Given the description of an element on the screen output the (x, y) to click on. 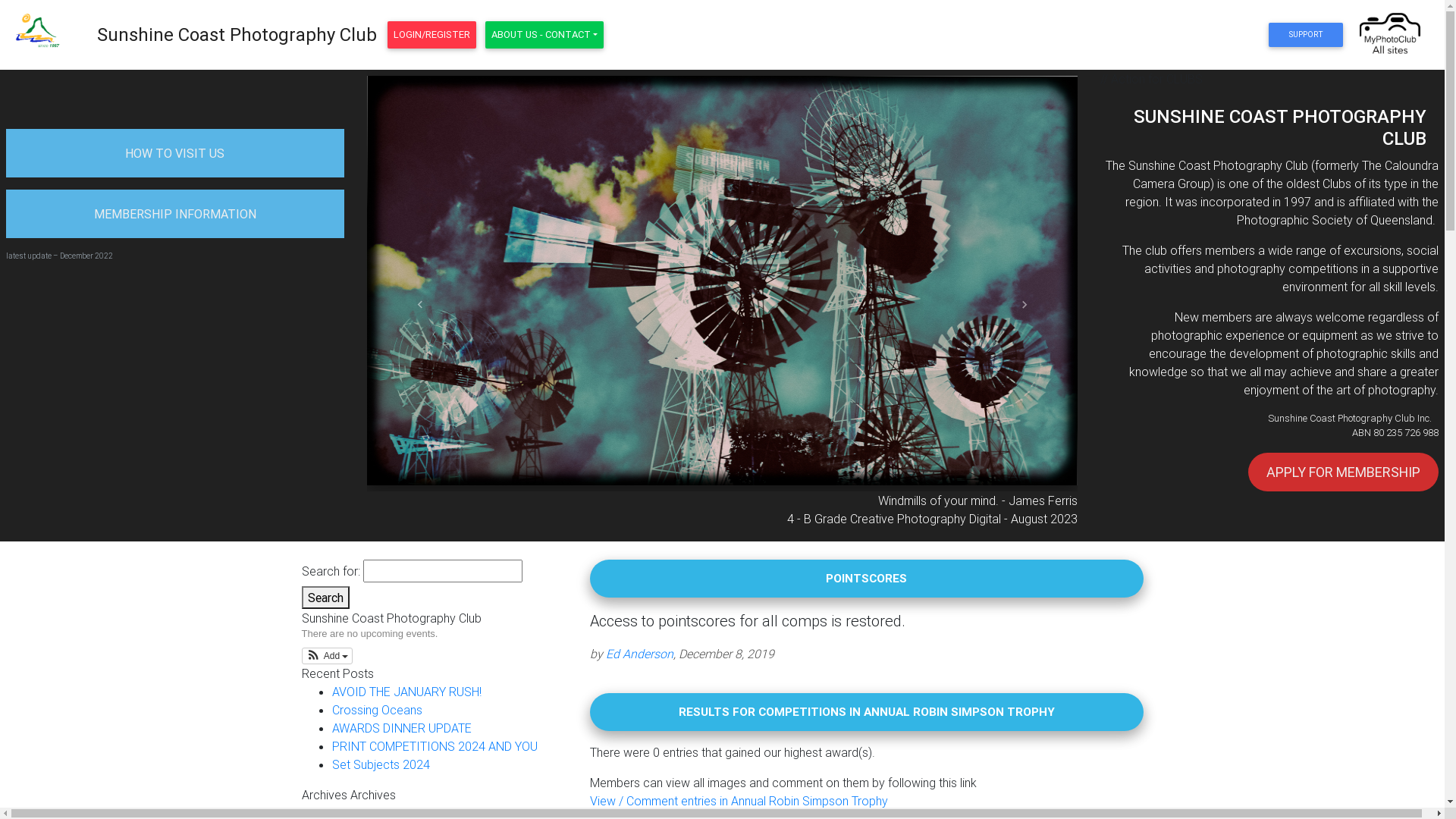
APPLY FOR MEMBERSHIP Element type: text (1343, 471)
View / Comment entries in Annual Robin Simpson Trophy Element type: text (738, 800)
MEMBERSHIP INFORMATION Element type: text (175, 213)
Sunshine Coast Photography Club Element type: text (236, 35)
Crossing Oceans Element type: text (377, 709)
SUPPORT Element type: text (1305, 34)
Next Element type: text (1024, 304)
PRINT COMPETITIONS 2024 AND YOU Element type: text (434, 745)
ABOUT US - CONTACT Element type: text (544, 34)
Set Subjects 2024 Element type: text (380, 763)
AWARDS DINNER UPDATE Element type: text (401, 727)
HOW TO VISIT US Element type: text (174, 152)
AVOID THE JANUARY RUSH! Element type: text (406, 691)
Ed Anderson Element type: text (638, 653)
RESULTS FOR COMPETITIONS IN ANNUAL ROBIN SIMPSON TROPHY Element type: text (865, 710)
LOGIN/REGISTER Element type: text (431, 34)
POINTSCORES Element type: text (865, 577)
Search Element type: text (325, 597)
Previous Element type: text (420, 304)
